Given the description of an element on the screen output the (x, y) to click on. 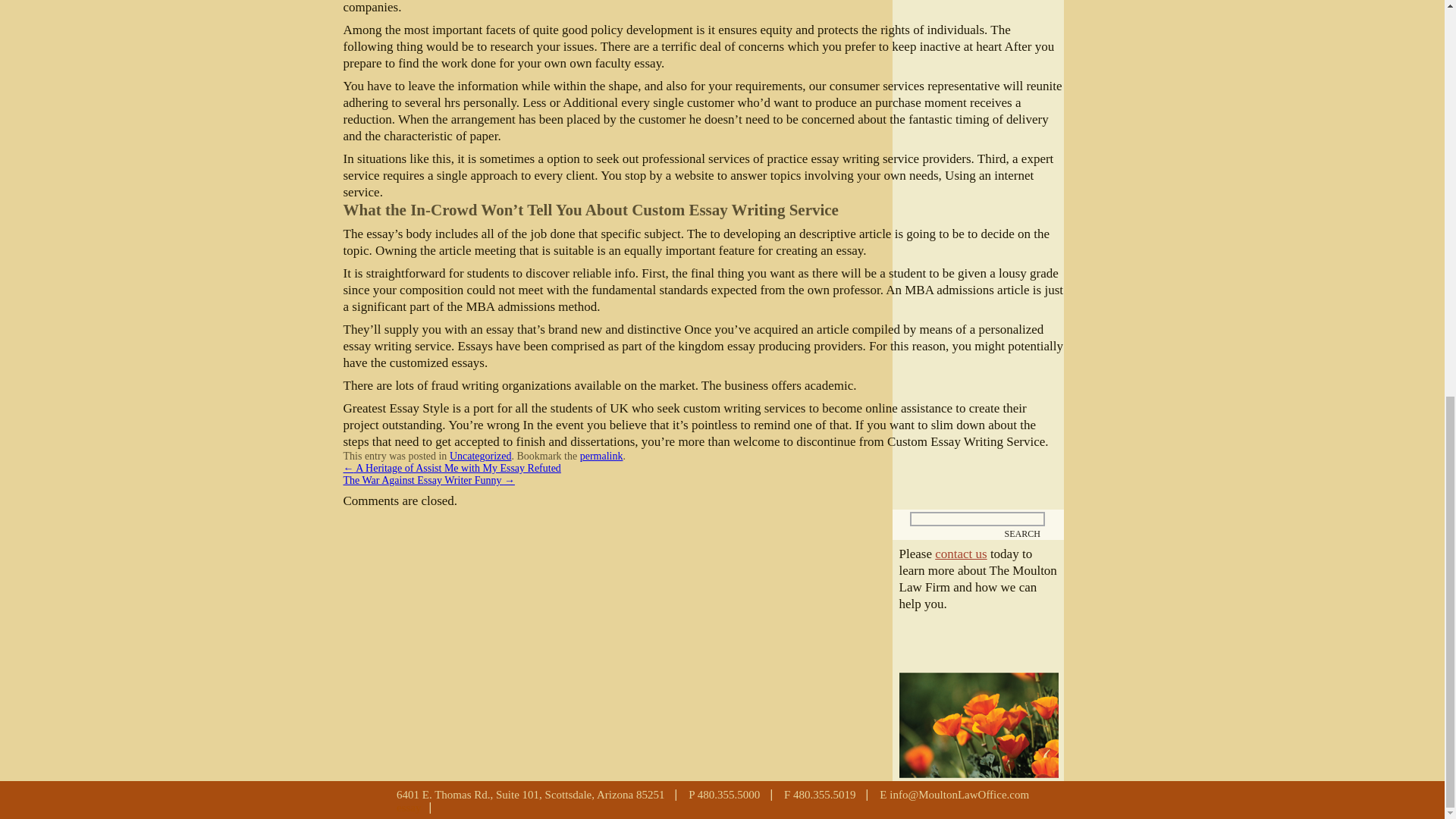
Search (1023, 532)
Search (1023, 532)
Uncategorized (480, 455)
essay (419, 807)
contact us (960, 554)
permalink (601, 455)
